Given the description of an element on the screen output the (x, y) to click on. 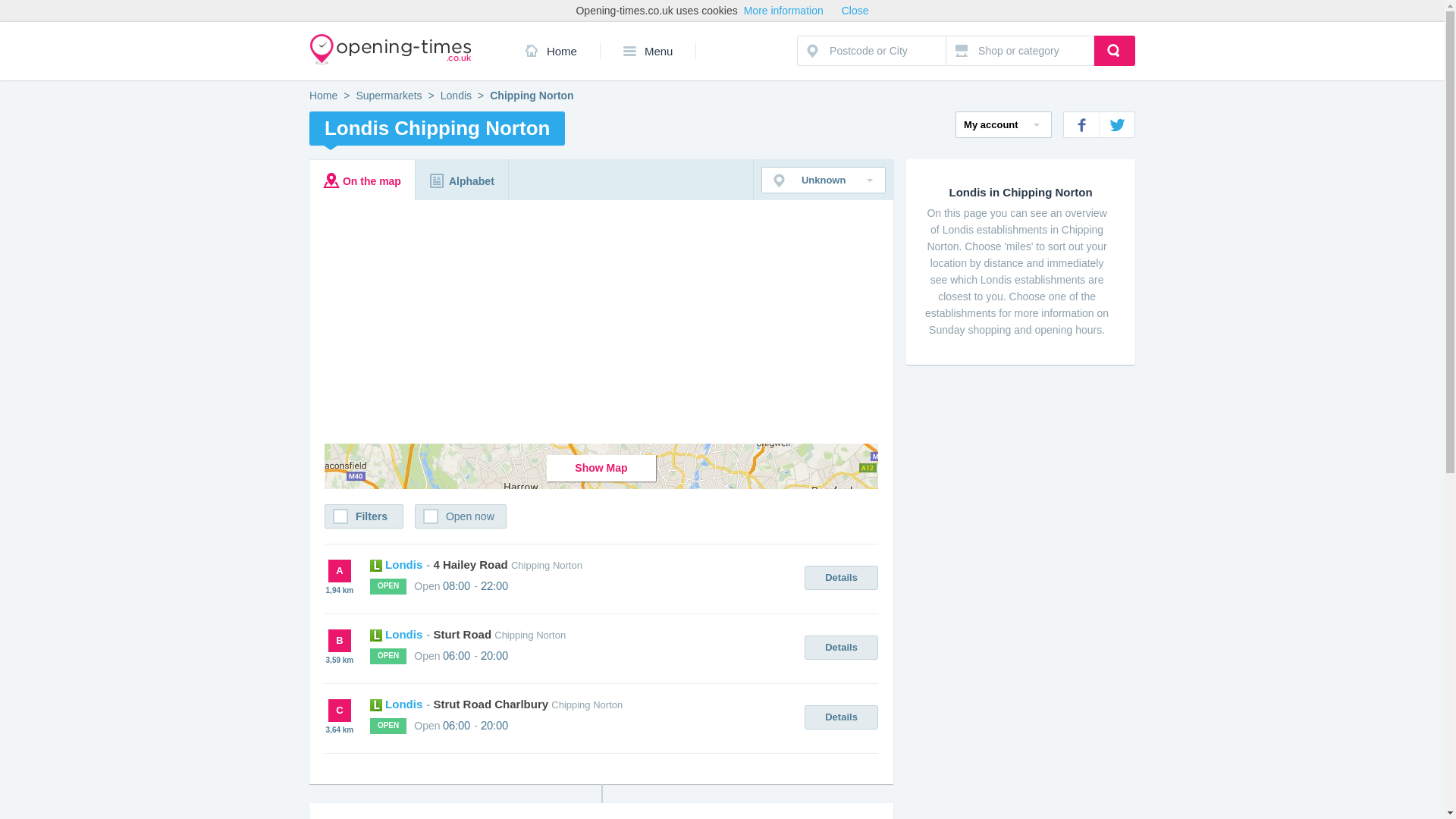
Londis - Alphabet (461, 179)
Open after (1114, 51)
More information (784, 10)
My account (1003, 124)
Home (322, 95)
Londis- 4 Hailey Road Chipping Norton (475, 563)
Close (855, 10)
Alphabet (461, 179)
Opening-times.co.uk - Never be disappointed again! (322, 95)
Details (841, 717)
Supermarkets (388, 95)
Home (550, 51)
Supermarkets (388, 95)
Londis- Sturt Road Chipping Norton (467, 634)
Unknown (823, 180)
